Given the description of an element on the screen output the (x, y) to click on. 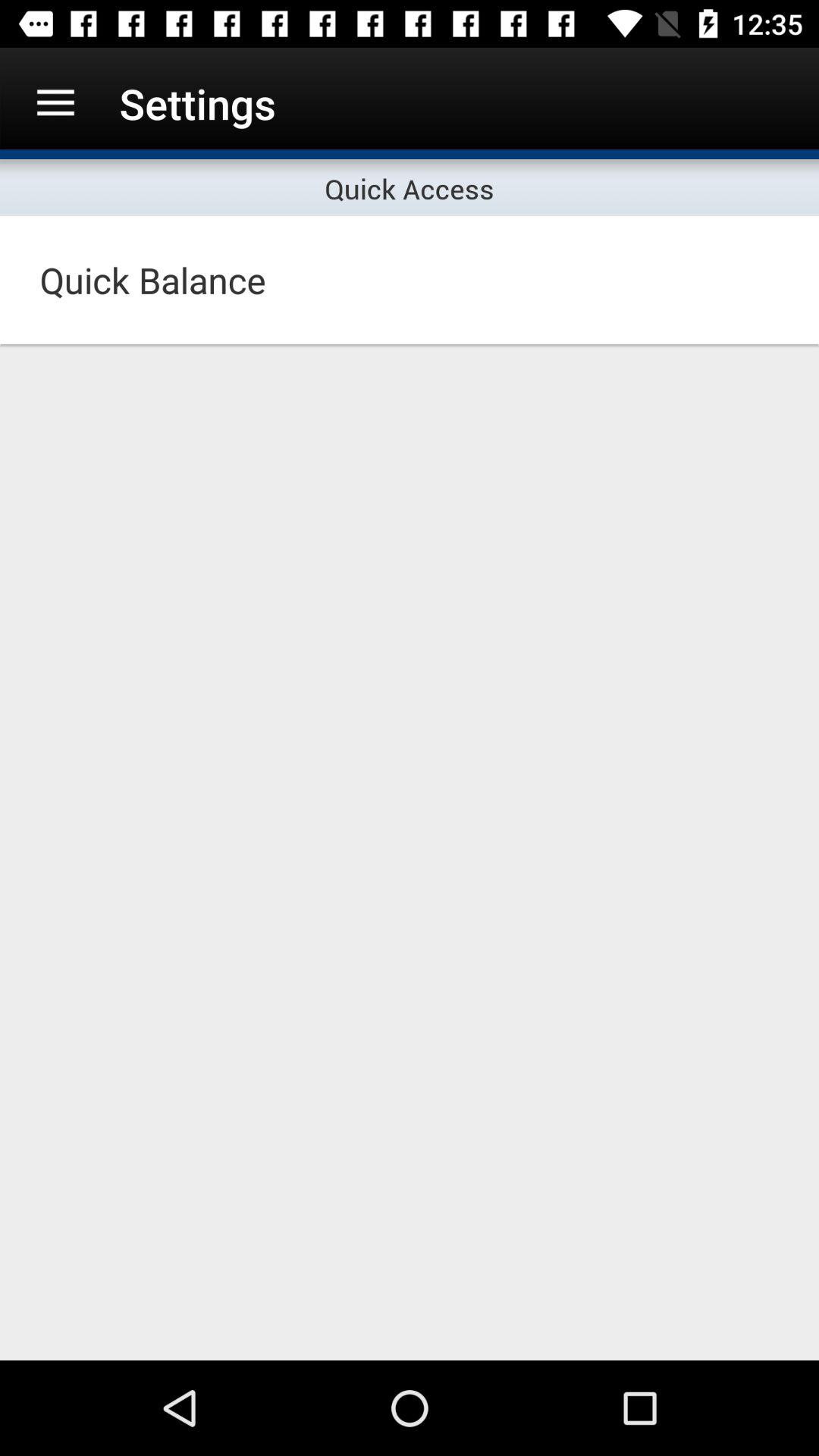
turn off the app to the left of settings (55, 103)
